Given the description of an element on the screen output the (x, y) to click on. 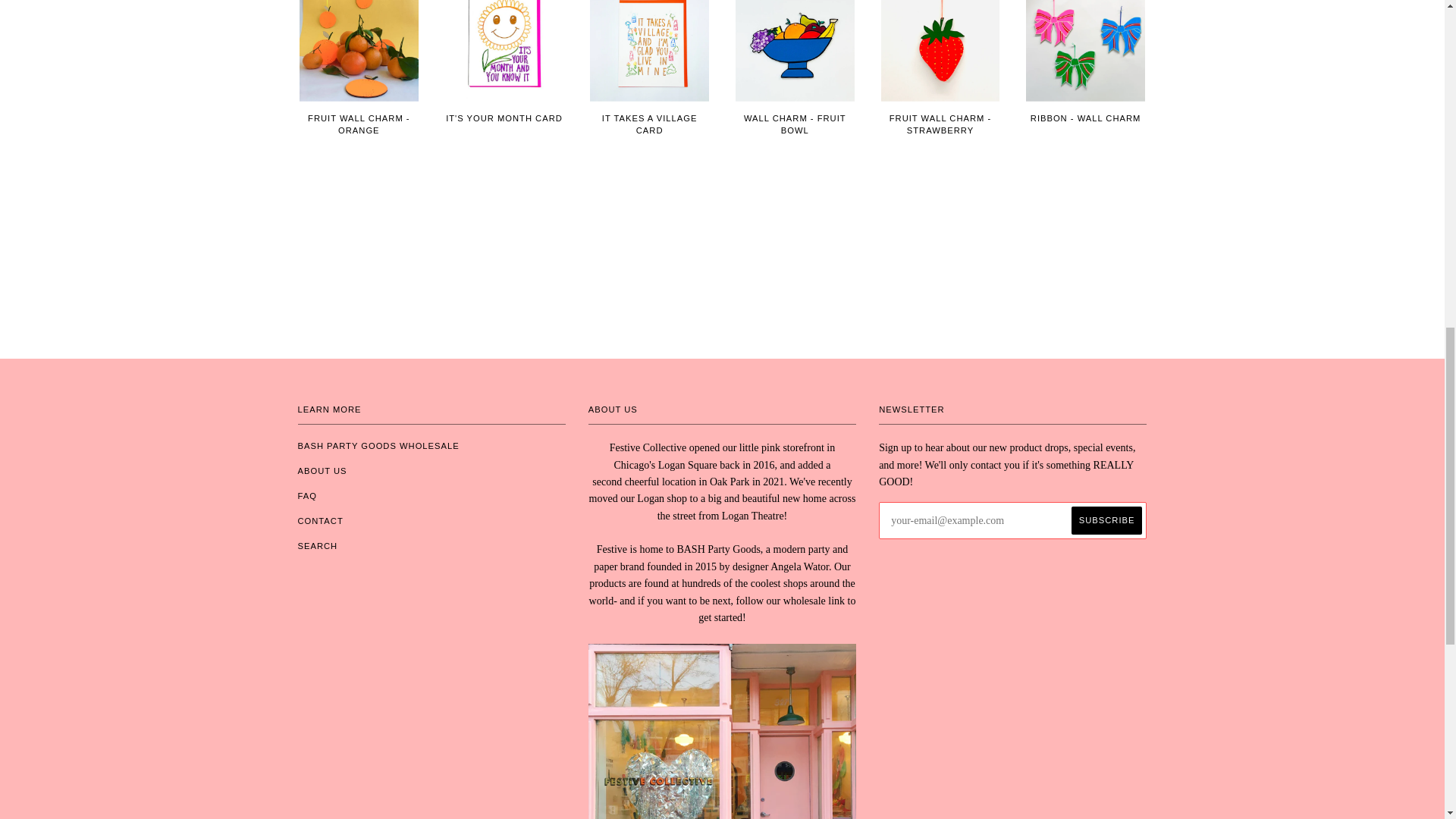
Subscribe (1106, 520)
